Given the description of an element on the screen output the (x, y) to click on. 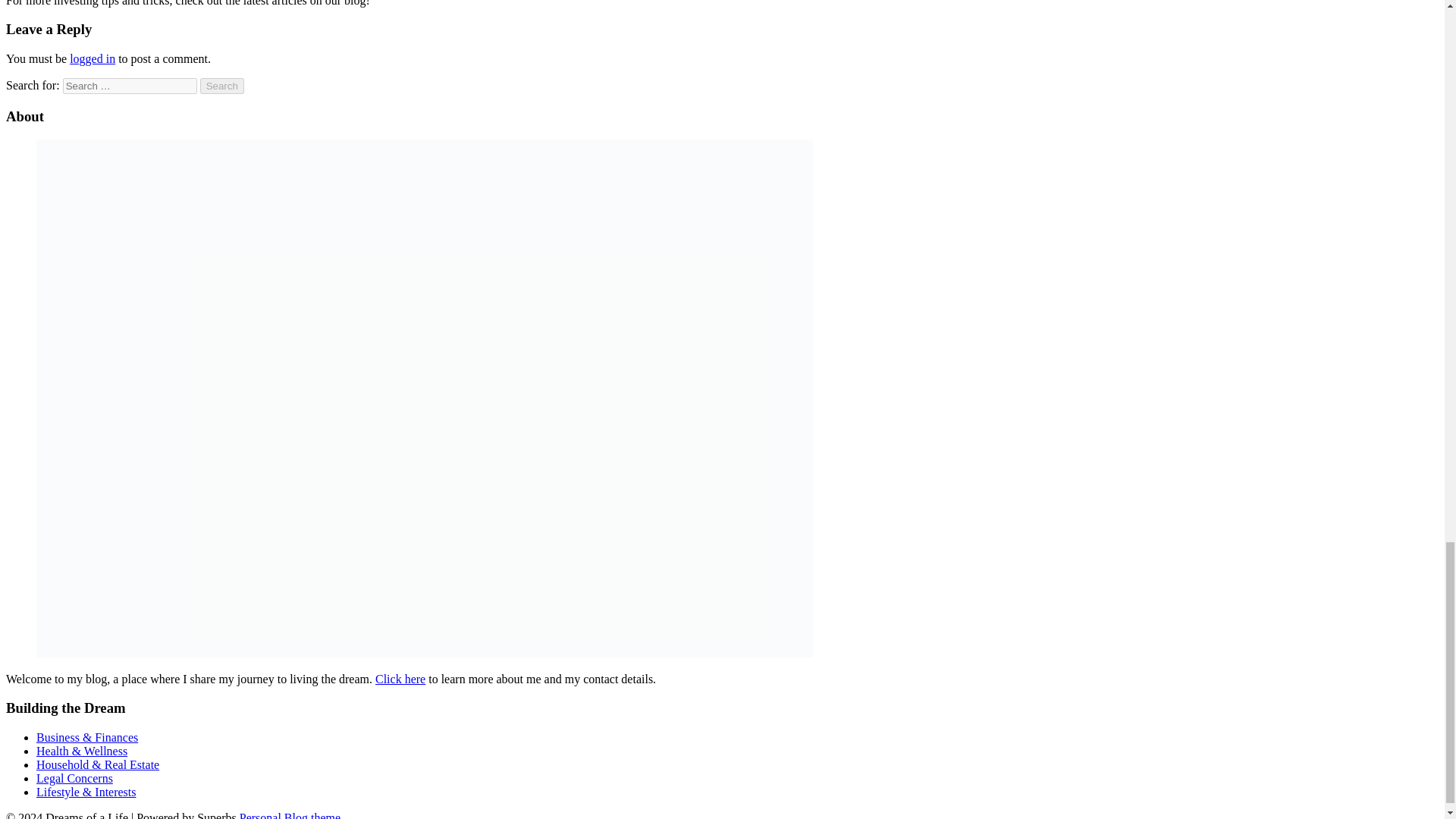
Search (222, 85)
Search (222, 85)
Click here (400, 678)
logged in (92, 58)
Legal Concerns (74, 778)
Search (222, 85)
